Given the description of an element on the screen output the (x, y) to click on. 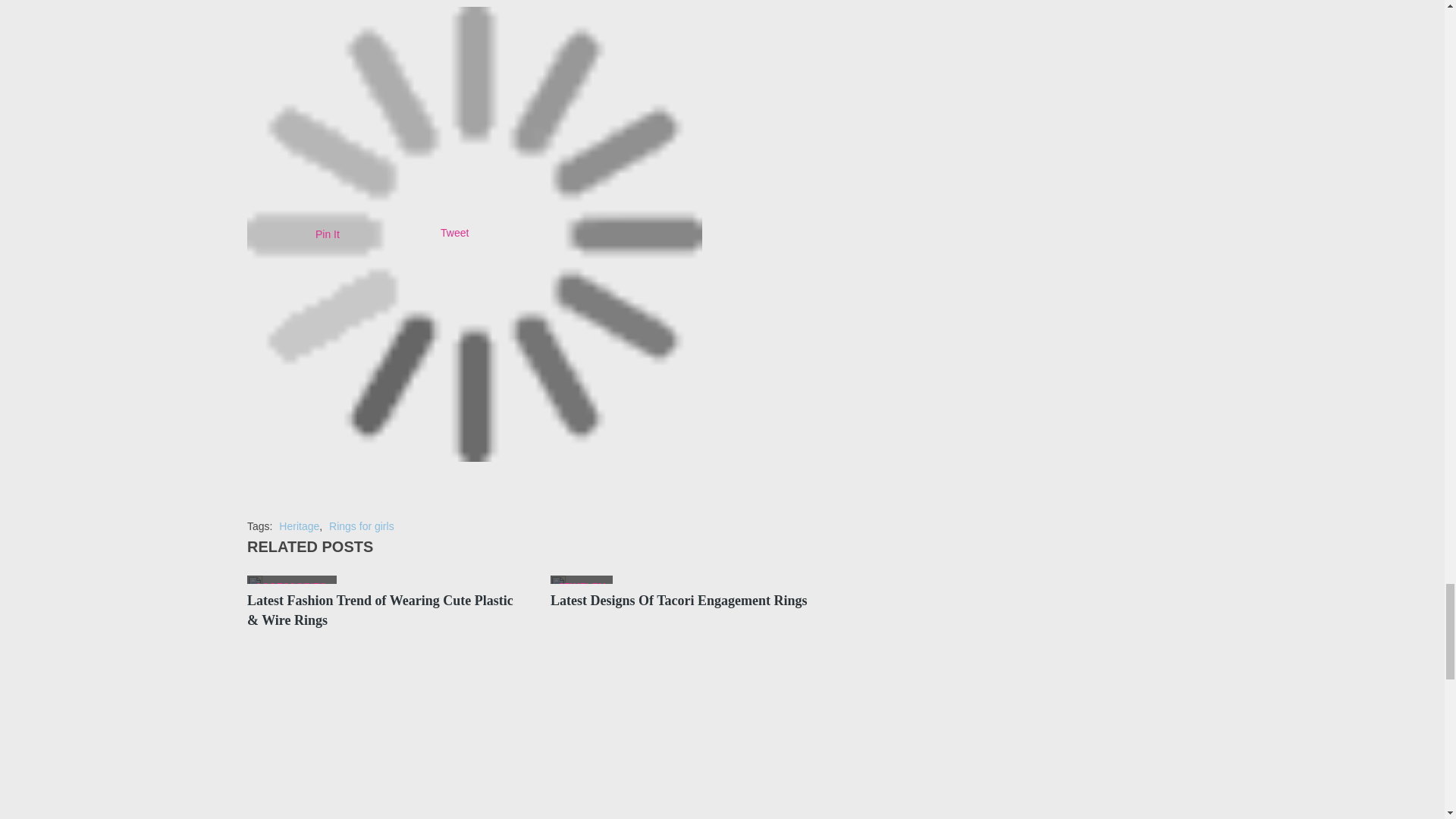
Latest Designs Of Tacori Engagement Rings (679, 600)
Latest Designs Of Tacori Engagement Rings (558, 579)
